Given the description of an element on the screen output the (x, y) to click on. 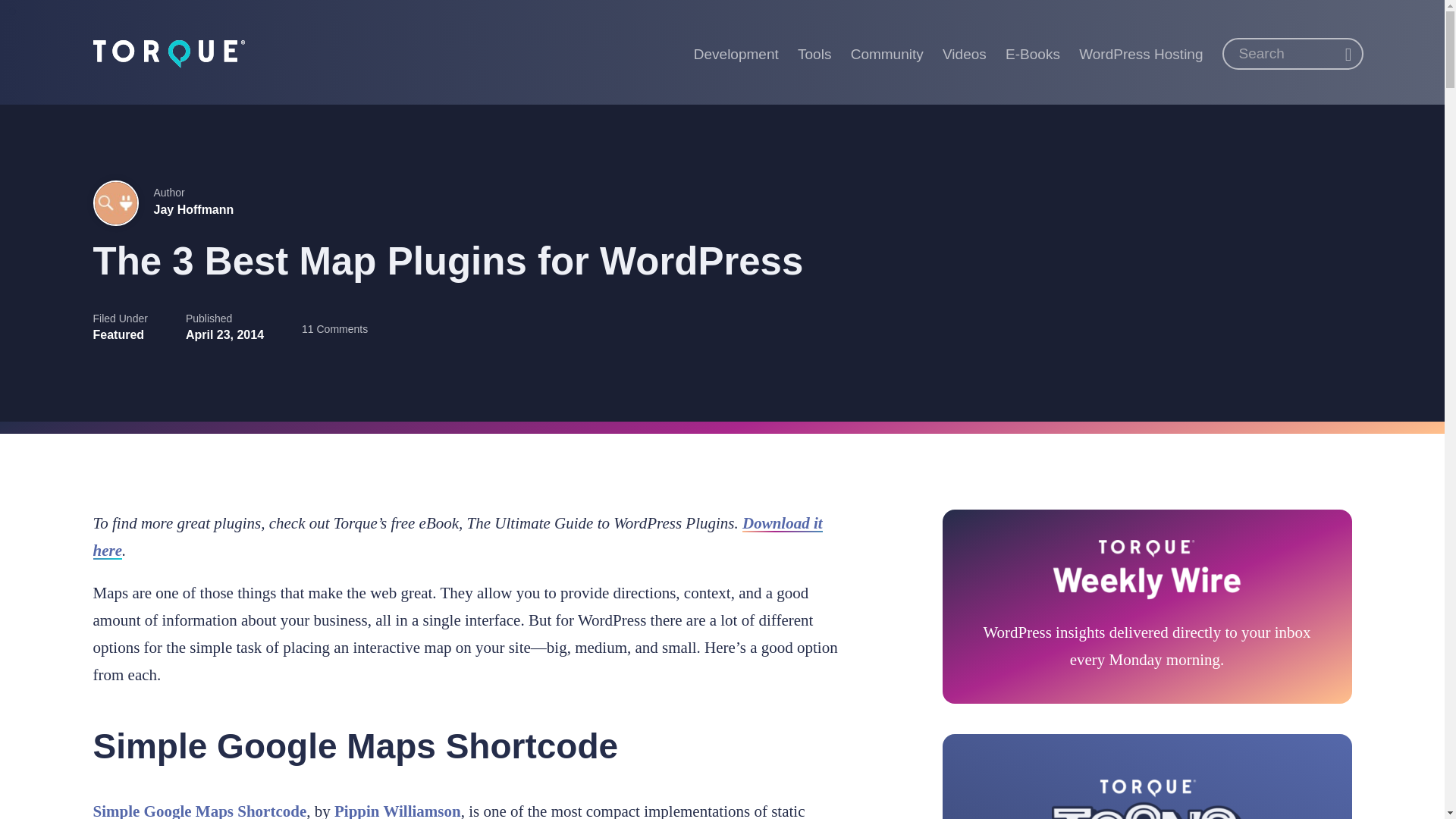
Simple Google Maps Shortcode (199, 810)
Featured (118, 334)
Development (736, 52)
Pippin Williamson (397, 810)
Download it here (457, 536)
Jay Hoffmann (192, 209)
WordPress Hosting (1141, 52)
Torque (168, 52)
